Given the description of an element on the screen output the (x, y) to click on. 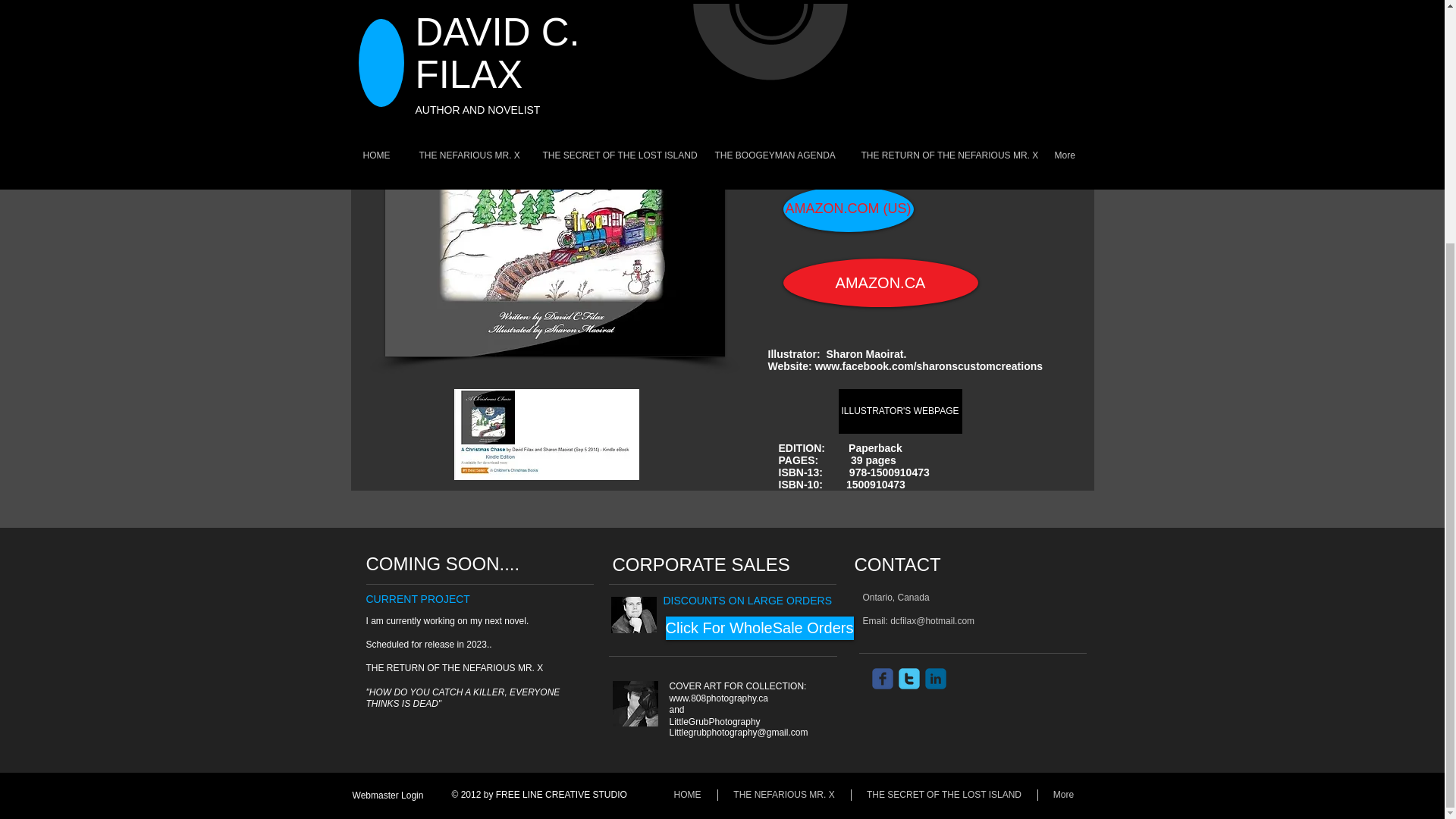
Click For WholeSale Orders (759, 627)
Webmaster Login (387, 795)
HOME (687, 794)
www.808photography.ca (718, 697)
ILLUSTRATOR'S WEBPAGE (900, 411)
THE SECRET OF THE LOST ISLAND (943, 794)
THE NEFARIOUS MR. X (783, 794)
AMAZON.CA (879, 282)
AChristmasChase-FullCover.jpg (555, 178)
